Given the description of an element on the screen output the (x, y) to click on. 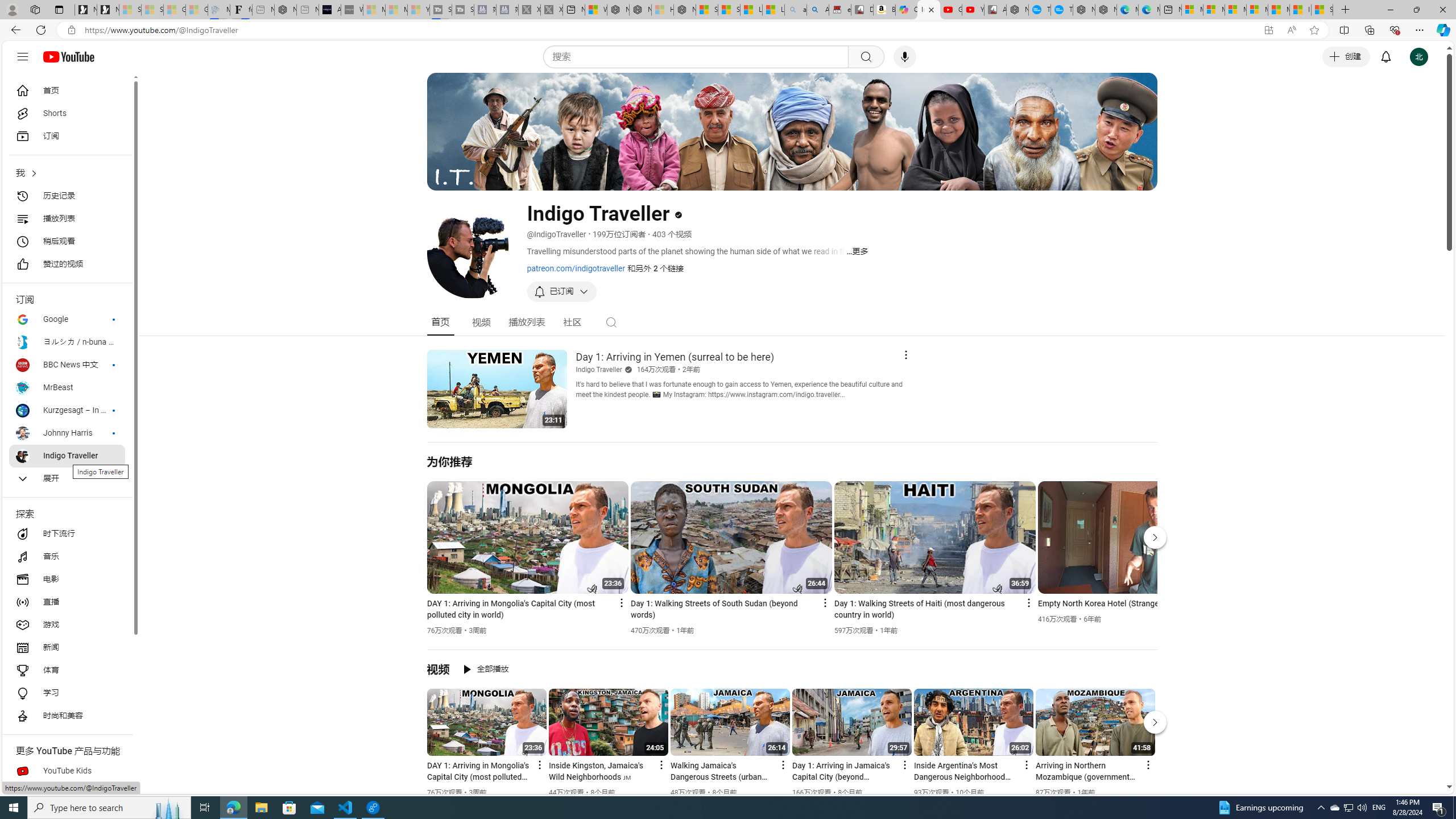
Indigo Traveller (599, 369)
